Given the description of an element on the screen output the (x, y) to click on. 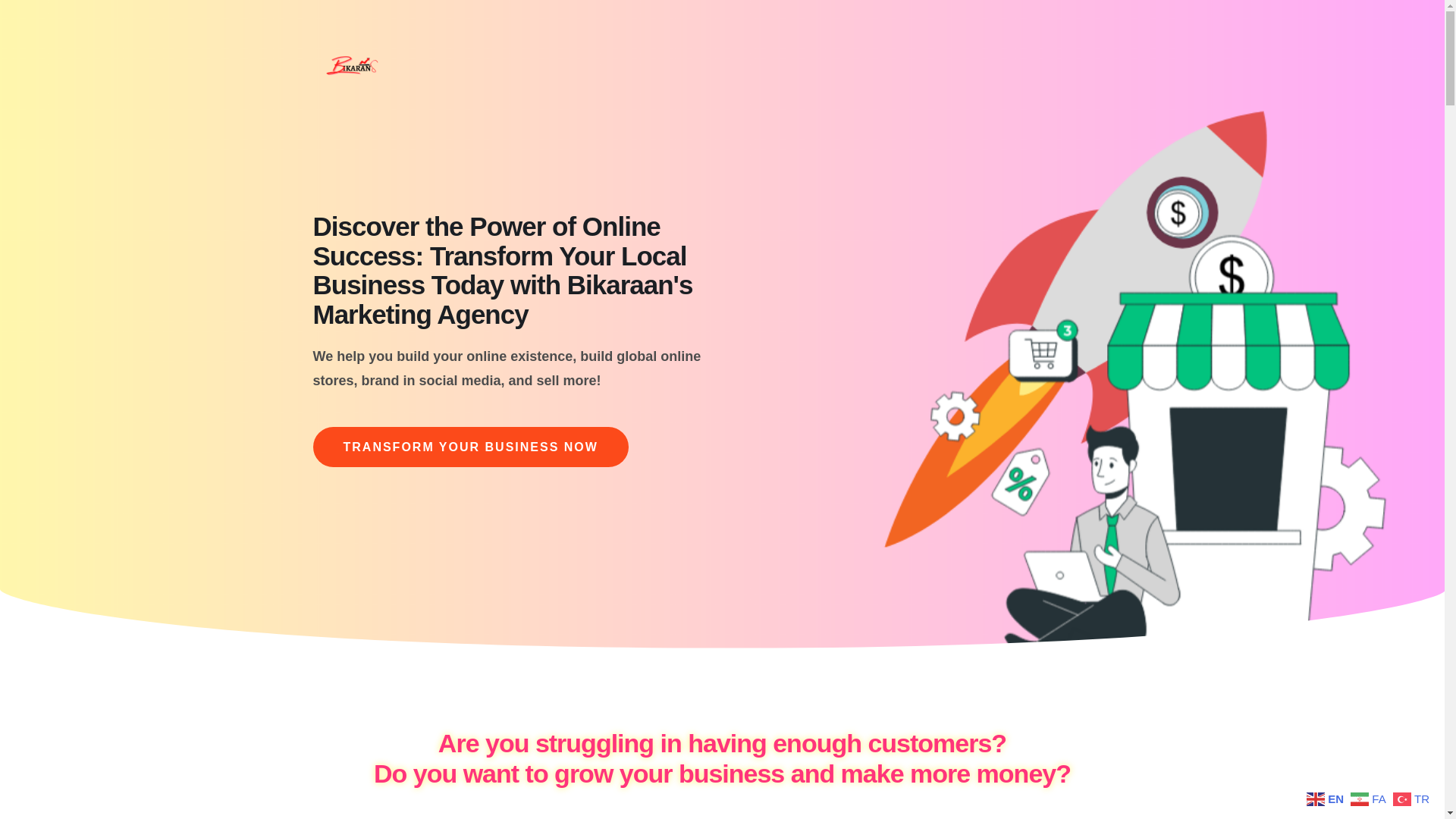
Persian (1370, 797)
EN (1327, 797)
FA (1370, 797)
TRANSFORM YOUR BUSINESS NOW (470, 446)
Turkish (1412, 797)
TR (1412, 797)
English (1327, 797)
